Given the description of an element on the screen output the (x, y) to click on. 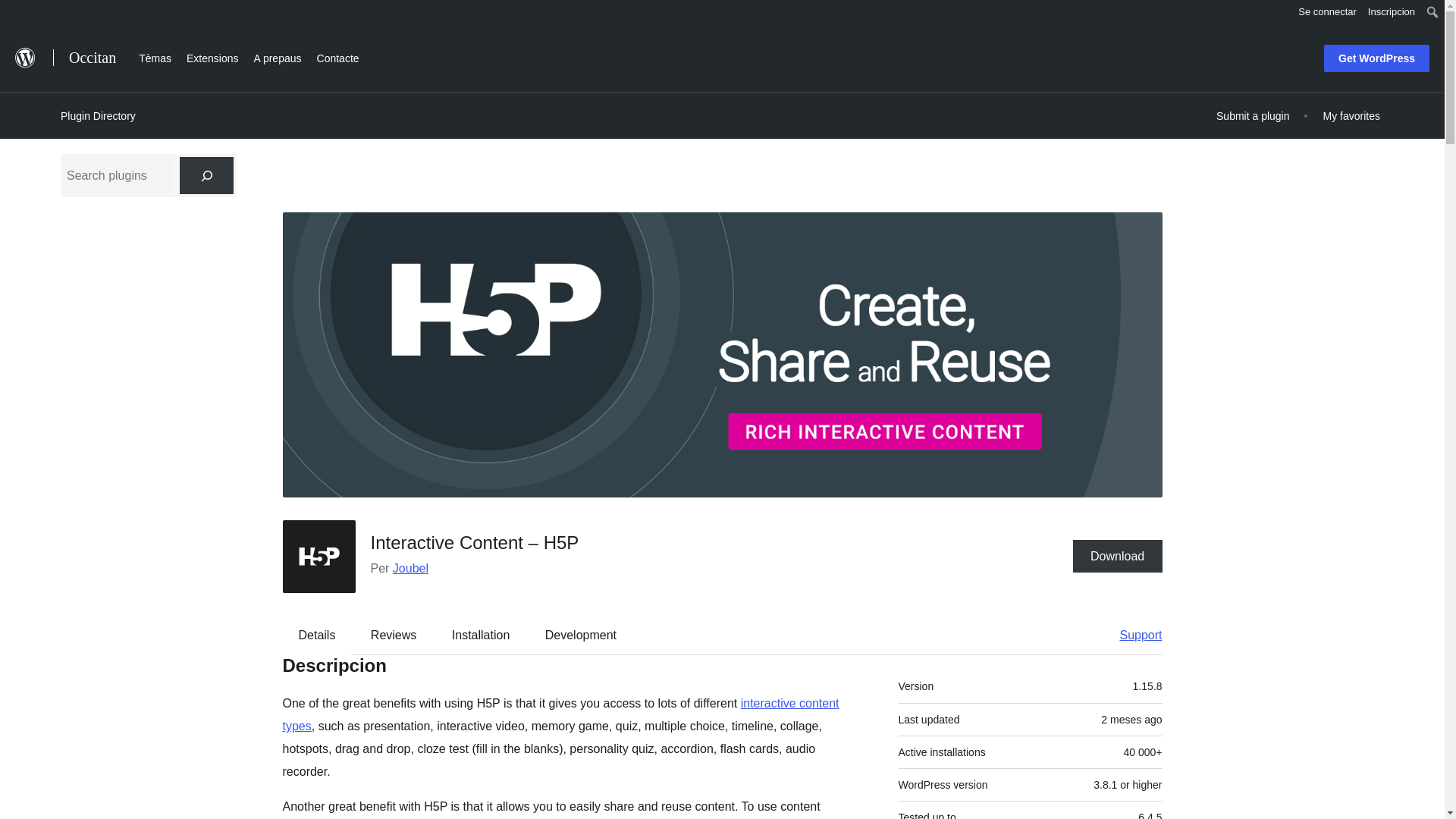
Inscripcion (1391, 12)
A prepaus (277, 56)
Get WordPress (1376, 58)
Plugin Directory (97, 116)
Development (580, 635)
Submit a plugin (1253, 115)
Extensions (212, 56)
Installation (480, 635)
interactive content types (560, 714)
Joubel (410, 567)
Reviews (392, 635)
Se connectar (1327, 12)
Examples and Downloads (560, 714)
My favorites (1351, 115)
Download (1117, 555)
